Given the description of an element on the screen output the (x, y) to click on. 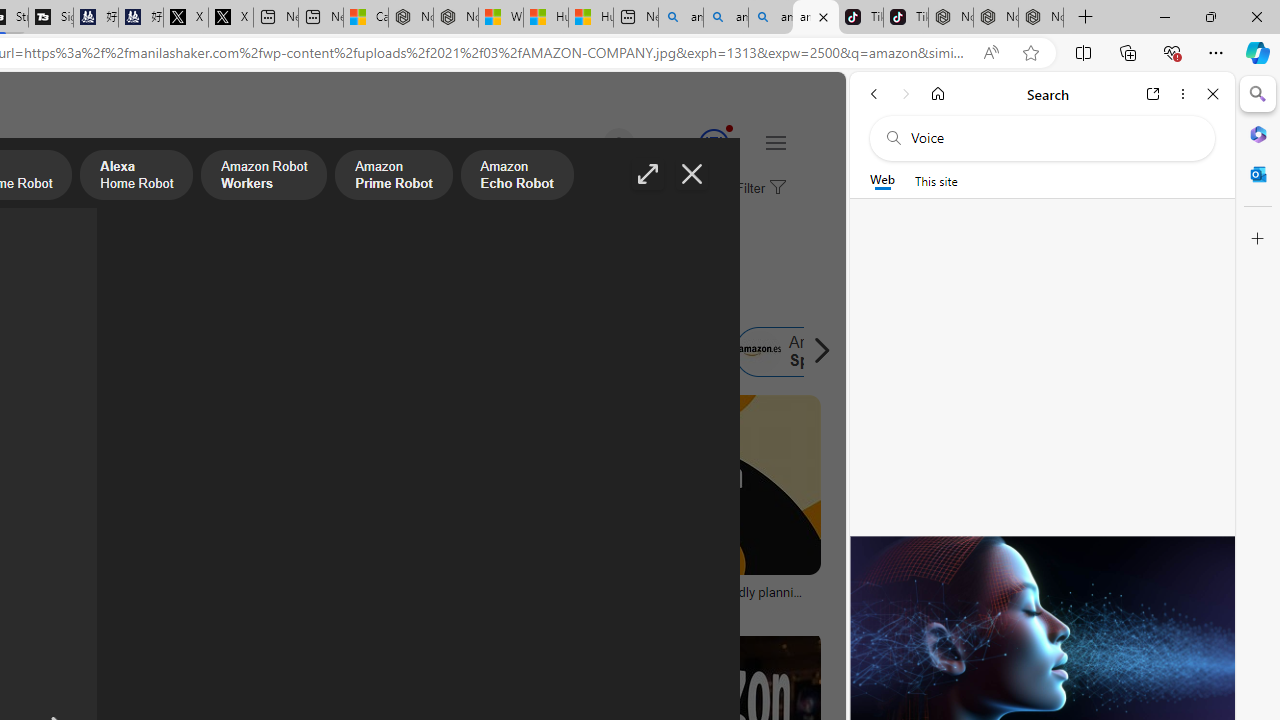
Amazon Prime Robot (394, 177)
Amazon Echo Robot (516, 177)
Close image (692, 173)
TikTok (905, 17)
Amazon Shoes (618, 351)
Nordace - Siena Pro 15 Essential Set (1040, 17)
Forward (906, 93)
Amazon Logo (PNG e SVG) Download Vetorial Transparente (98, 598)
